Given the description of an element on the screen output the (x, y) to click on. 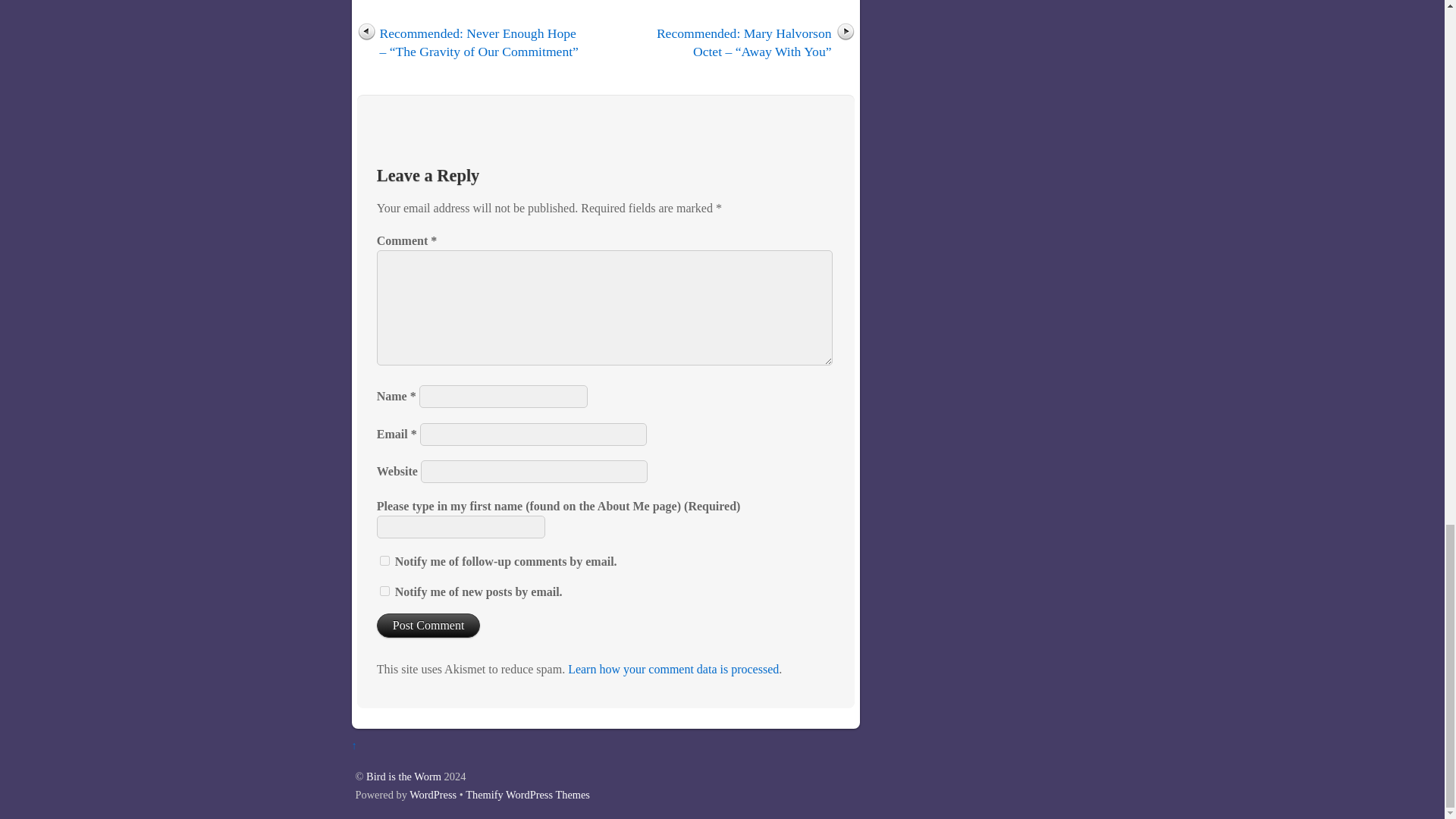
subscribe (385, 591)
subscribe (385, 560)
Post Comment (428, 625)
Learn how your comment data is processed (672, 668)
Post Comment (428, 625)
